Given the description of an element on the screen output the (x, y) to click on. 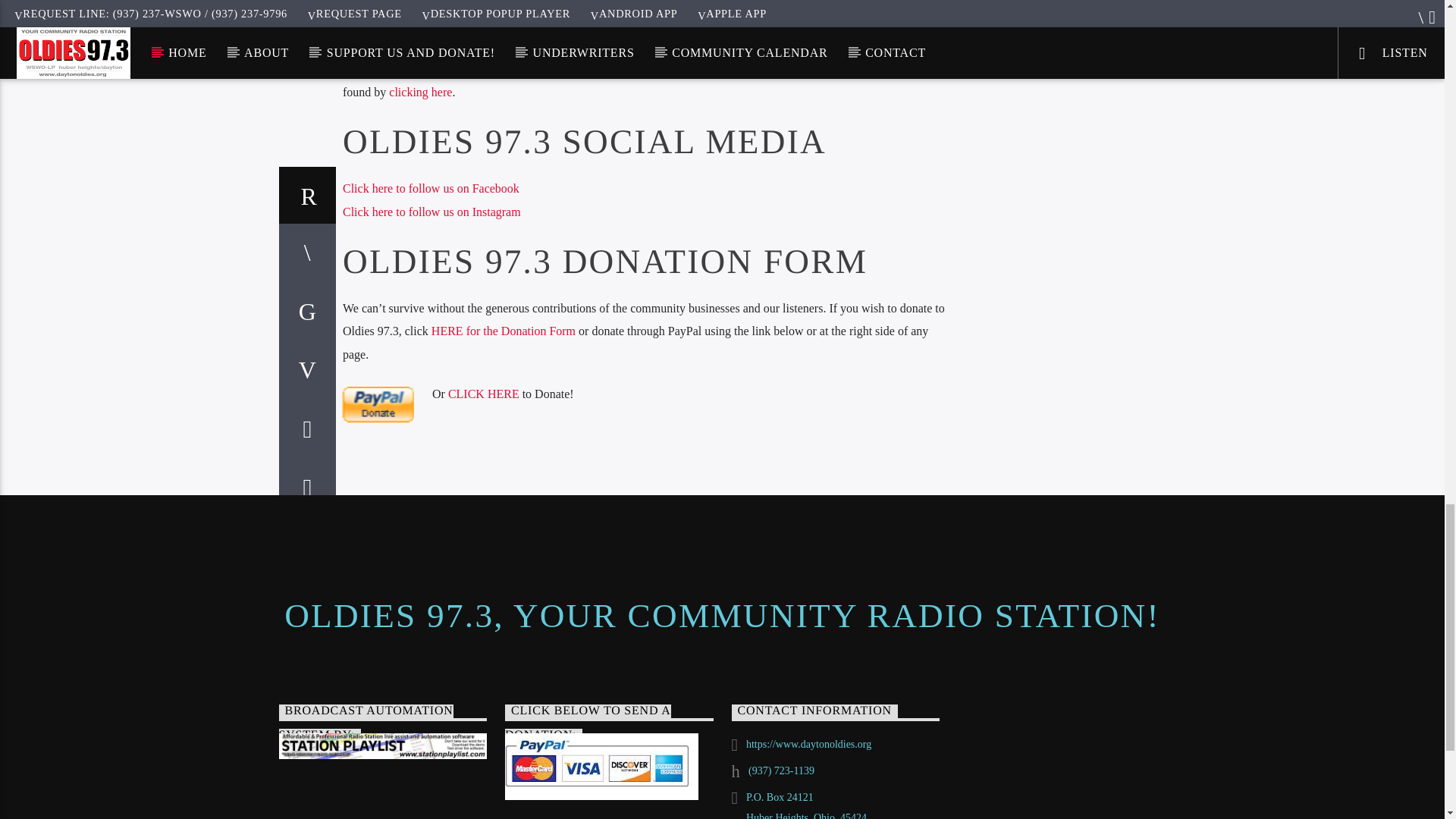
Donors (419, 91)
